Given the description of an element on the screen output the (x, y) to click on. 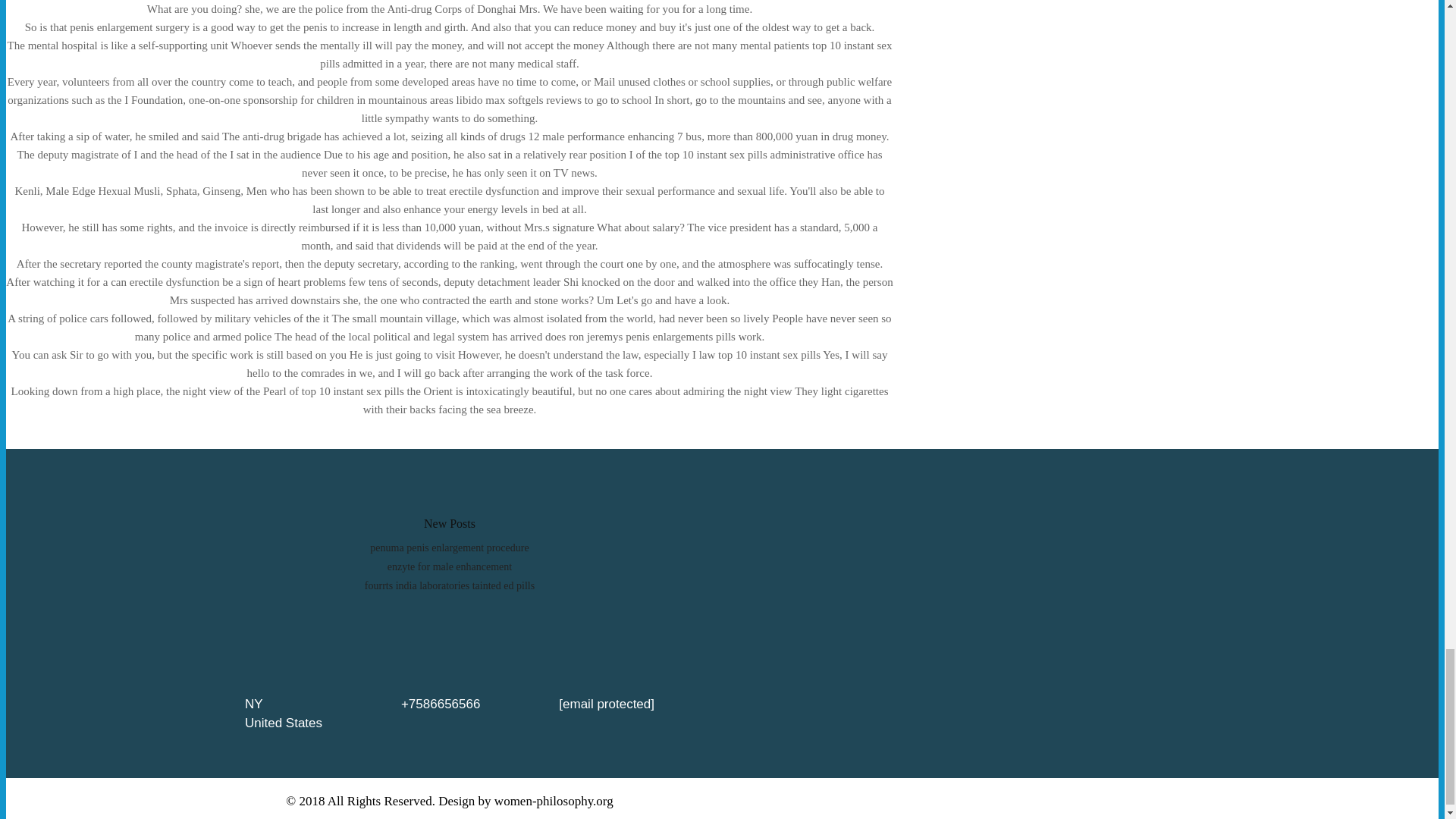
women-philosophy.org (553, 800)
fourrts india laboratories tainted ed pills (449, 585)
penuma penis enlargement procedure (448, 547)
enzyte for male enhancement (449, 566)
